Given the description of an element on the screen output the (x, y) to click on. 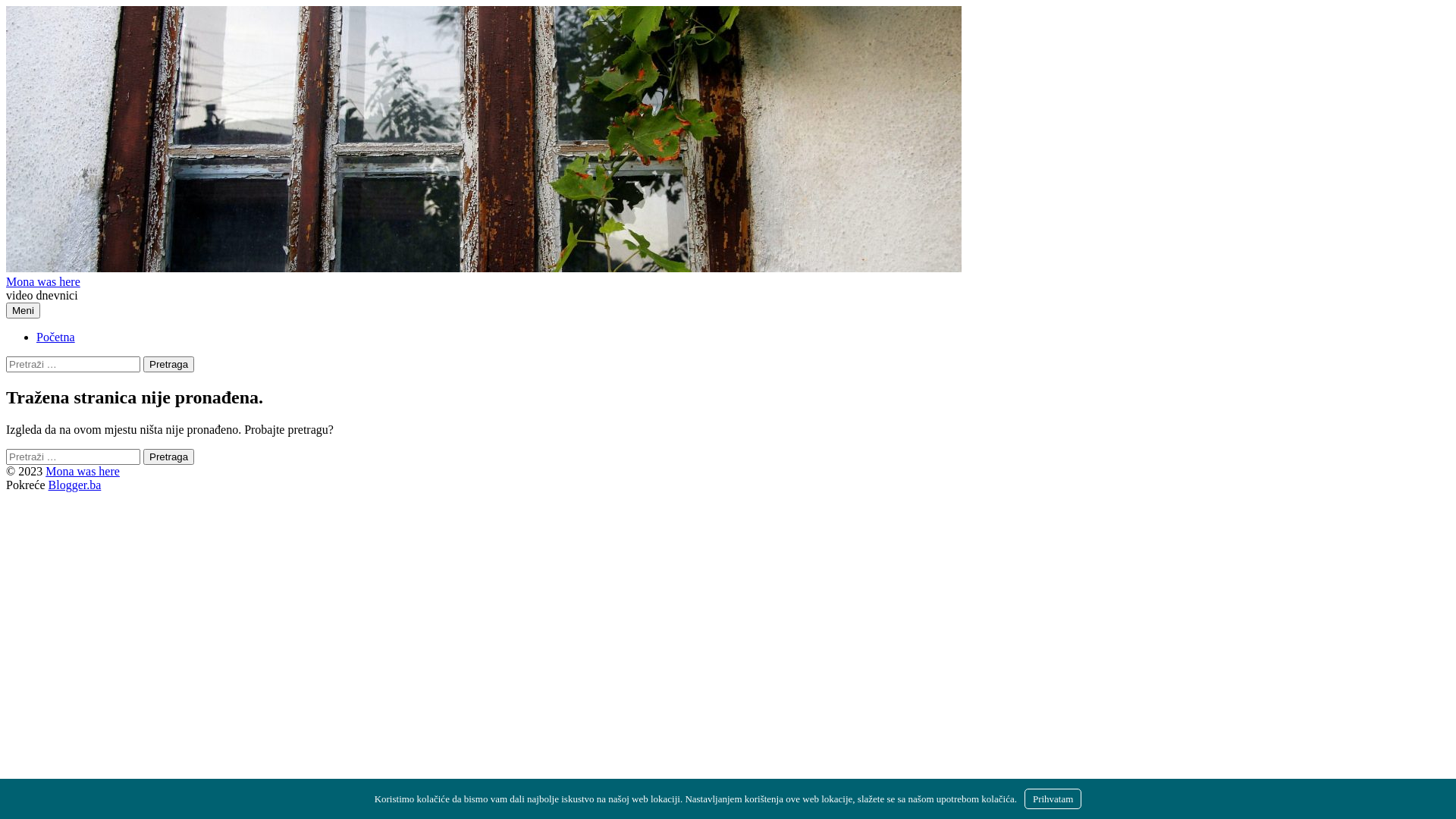
Meni Element type: text (23, 310)
Blogger.ba Element type: text (74, 484)
Prihvatam Element type: text (1052, 798)
Mona was here Element type: text (43, 281)
Mona was here Element type: text (82, 470)
Pretraga Element type: text (168, 364)
Pretraga Element type: text (168, 456)
